Given the description of an element on the screen output the (x, y) to click on. 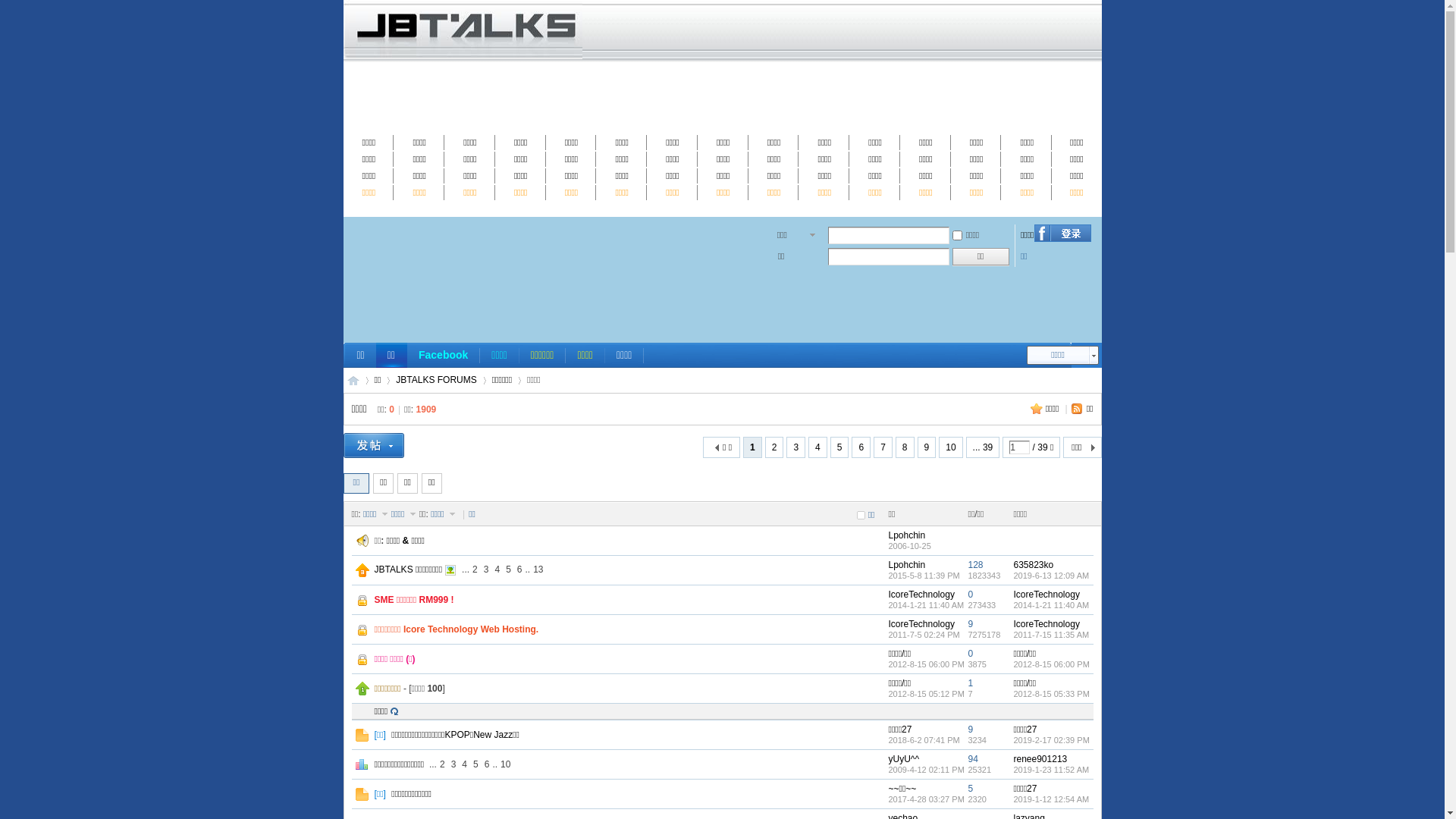
2012-8-15 06:00 PM Element type: text (1050, 663)
3 Element type: text (453, 764)
2014-1-21 11:40 AM Element type: text (1050, 604)
Advertisement Element type: hover (721, 300)
9 Element type: text (969, 729)
2011-7-15 11:35 AM Element type: text (1050, 634)
8 Element type: text (904, 447)
10 Element type: text (950, 447)
Advertisement Element type: hover (721, 96)
6 Element type: text (519, 569)
IcoreTechnology Element type: text (1046, 594)
yUyU^^ Element type: text (903, 758)
9 Element type: text (969, 623)
3 Element type: text (795, 447)
5 Element type: text (508, 569)
13 Element type: text (538, 569)
IcoreTechnology Element type: text (921, 623)
renee901213 Element type: text (1039, 758)
0 Element type: text (969, 653)
4 Element type: text (464, 764)
2019-1-12 12:54 AM Element type: text (1050, 798)
JBTALKS.CC Element type: hover (461, 55)
... 39 Element type: text (983, 447)
9 Element type: text (926, 447)
2019-6-13 12:09 AM Element type: text (1050, 575)
3 Element type: text (486, 569)
2019-1-23 11:52 AM Element type: text (1050, 769)
5 Element type: text (475, 764)
JBTALKS.CC Element type: text (353, 380)
5 Element type: text (839, 447)
6 Element type: text (486, 764)
6 Element type: text (860, 447)
2 Element type: text (474, 569)
Facebook Element type: text (443, 354)
2019-2-17 02:39 PM Element type: text (1050, 739)
Lpohchin Element type: text (906, 564)
5 Element type: text (969, 788)
128 Element type: text (974, 564)
2012-8-15 05:33 PM Element type: text (1050, 693)
4 Element type: text (496, 569)
7 Element type: text (882, 447)
1 Element type: text (969, 682)
94 Element type: text (972, 758)
0 Element type: text (969, 594)
635823ko Element type: text (1033, 564)
2 Element type: text (442, 764)
4 Element type: text (817, 447)
Lpohchin Element type: text (906, 535)
IcoreTechnology Element type: text (1046, 623)
10 Element type: text (505, 764)
IcoreTechnology Element type: text (921, 594)
2 Element type: text (774, 447)
JBTALKS FORUMS Element type: text (435, 380)
